Given the description of an element on the screen output the (x, y) to click on. 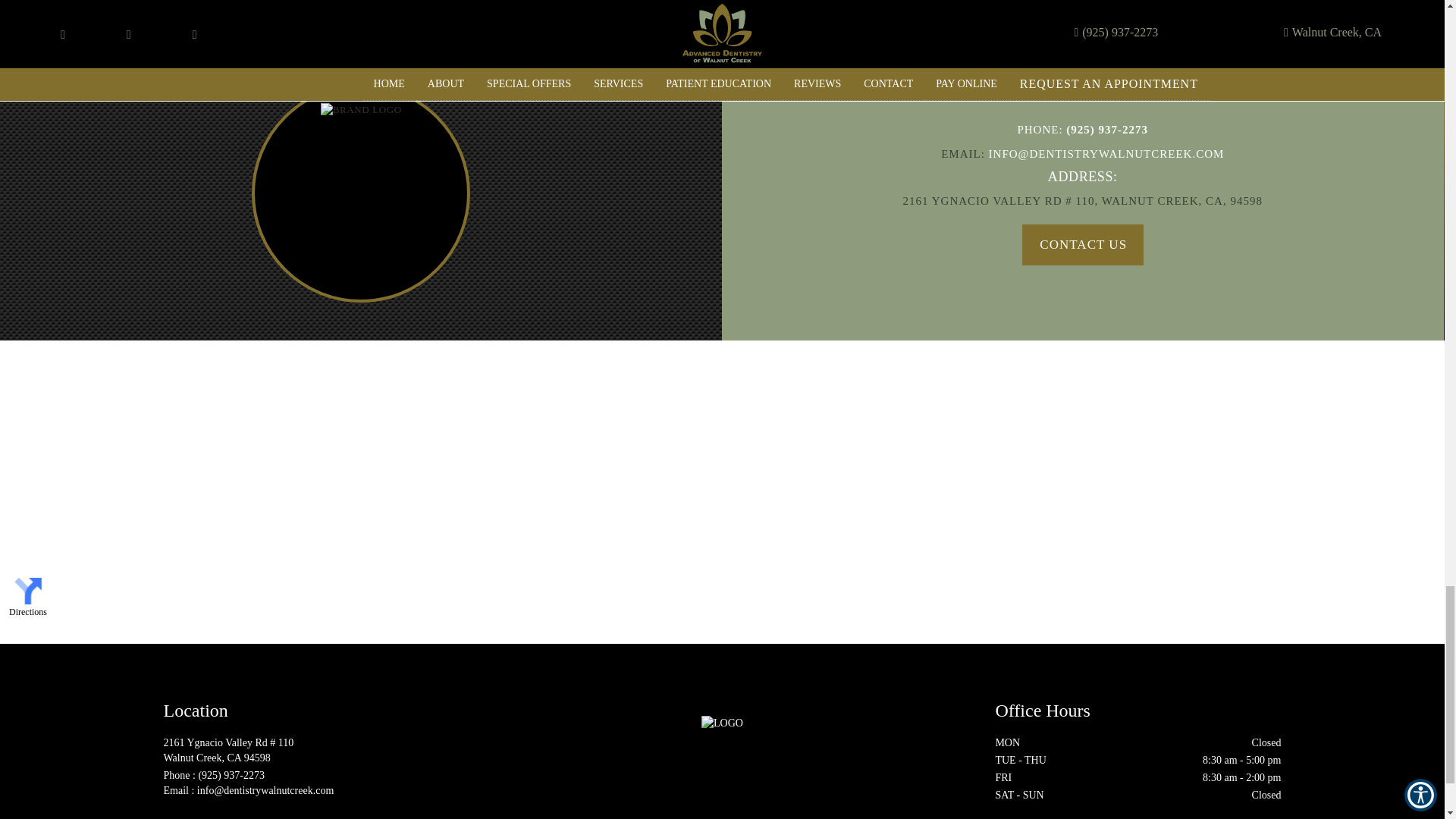
LOGO (721, 723)
Brand logo (360, 110)
